Given the description of an element on the screen output the (x, y) to click on. 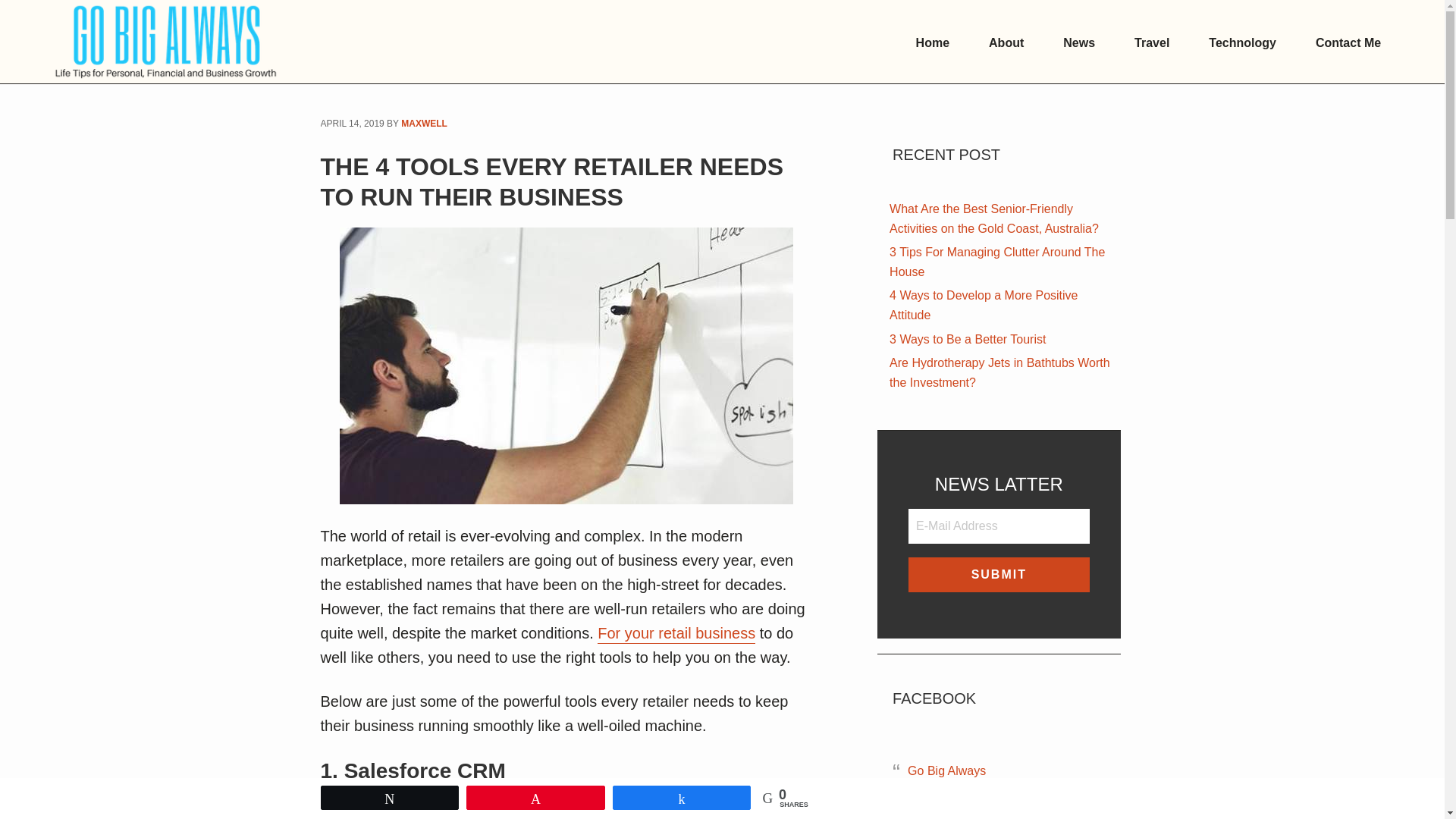
Travel (1151, 43)
Submit (998, 574)
Technology (1242, 43)
3 Tips For Managing Clutter Around The House (997, 262)
About (1005, 43)
Are Hydrotherapy Jets in Bathtubs Worth the Investment? (999, 373)
Customer Relationship Management (562, 807)
Home (932, 43)
For your retail business (675, 633)
3 Ways to Be a Better Tourist (967, 340)
Go Big Always (946, 771)
MAXWELL (423, 124)
News (1078, 43)
Contact Me (1347, 43)
